Given the description of an element on the screen output the (x, y) to click on. 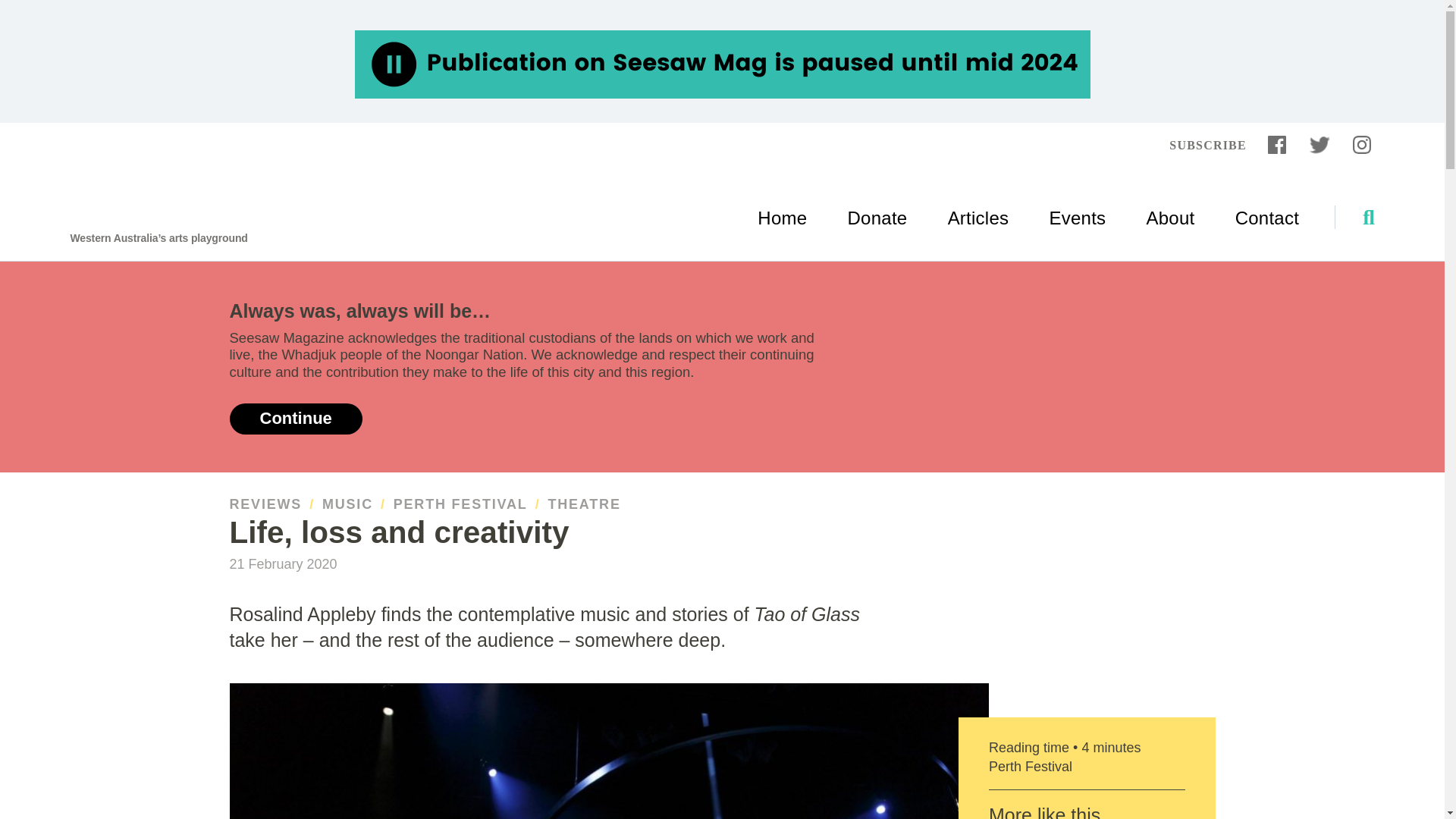
Donate (877, 32)
Seesawmag (118, 32)
Events (1076, 32)
Articles (978, 32)
Contact (1266, 32)
